Given the description of an element on the screen output the (x, y) to click on. 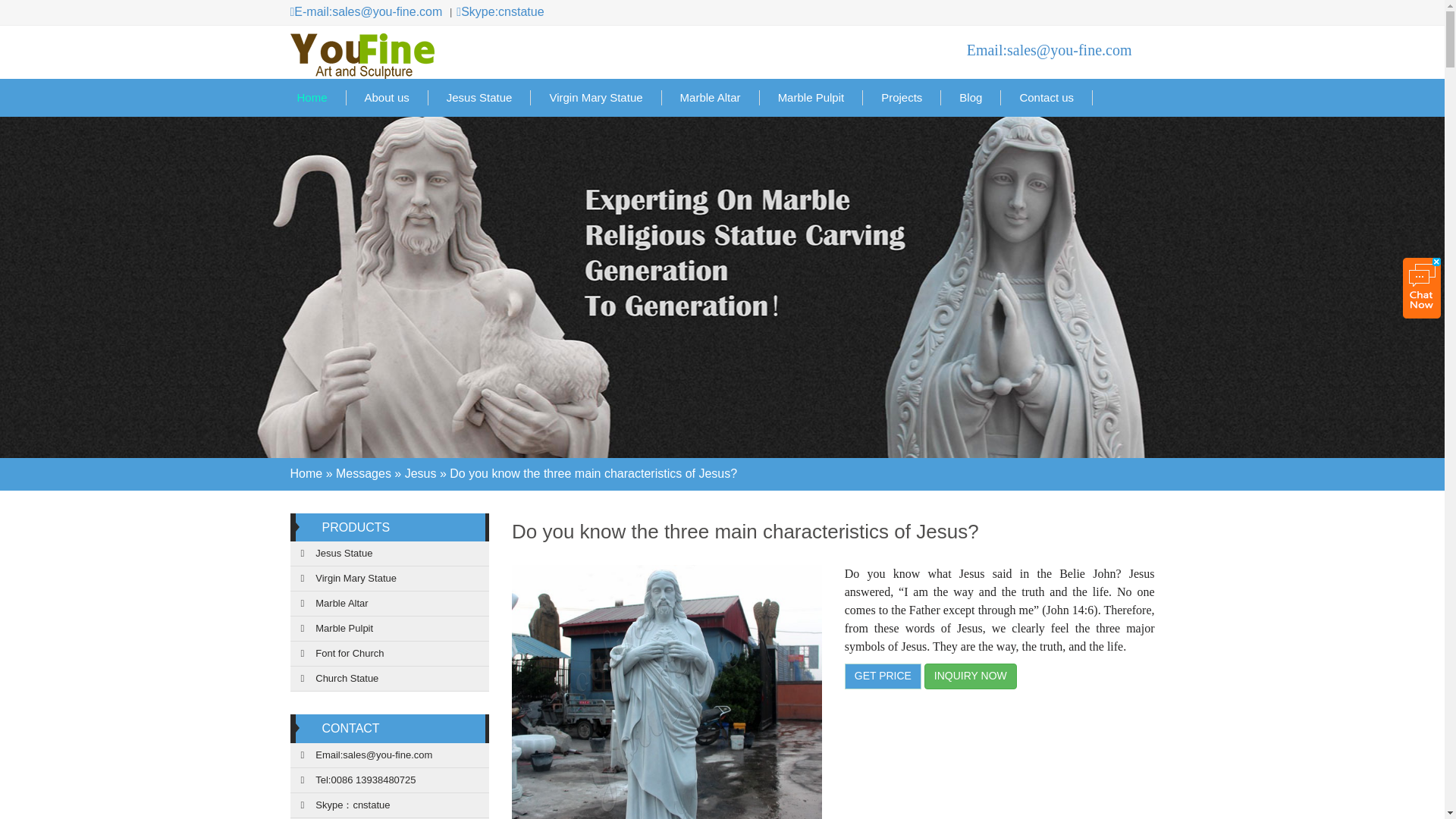
Virgin Mary Statue (389, 578)
Jesus Statue (389, 553)
Messages (363, 472)
Virgin Mary Statue (596, 97)
Marble Pulpit (811, 97)
About us (387, 97)
Contact us (1047, 97)
Church Statue (389, 678)
Blog (970, 97)
Marble Altar (711, 97)
Marble Pulpit (389, 628)
Projects (901, 97)
 About us (387, 97)
Virgin Mary Statue (389, 578)
